Given the description of an element on the screen output the (x, y) to click on. 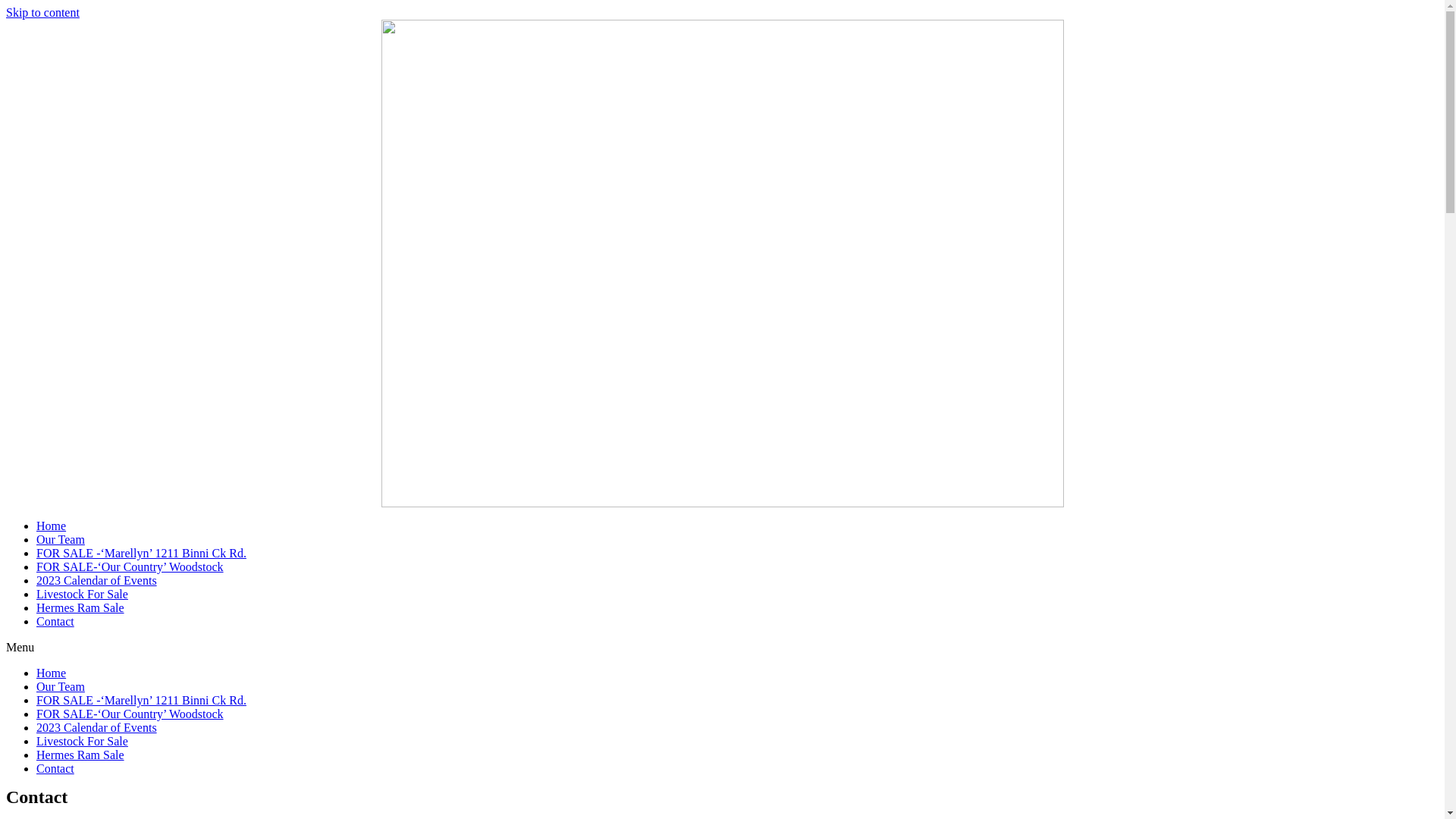
2023 Calendar of Events Element type: text (96, 727)
Hermes Ram Sale Element type: text (80, 607)
Our Team Element type: text (60, 539)
Skip to content Element type: text (42, 12)
Contact Element type: text (55, 621)
Our Team Element type: text (60, 686)
Home Element type: text (50, 525)
2023 Calendar of Events Element type: text (96, 580)
Hermes Ram Sale Element type: text (80, 754)
Livestock For Sale Element type: text (82, 593)
Contact Element type: text (55, 768)
Livestock For Sale Element type: text (82, 740)
Home Element type: text (50, 672)
